Given the description of an element on the screen output the (x, y) to click on. 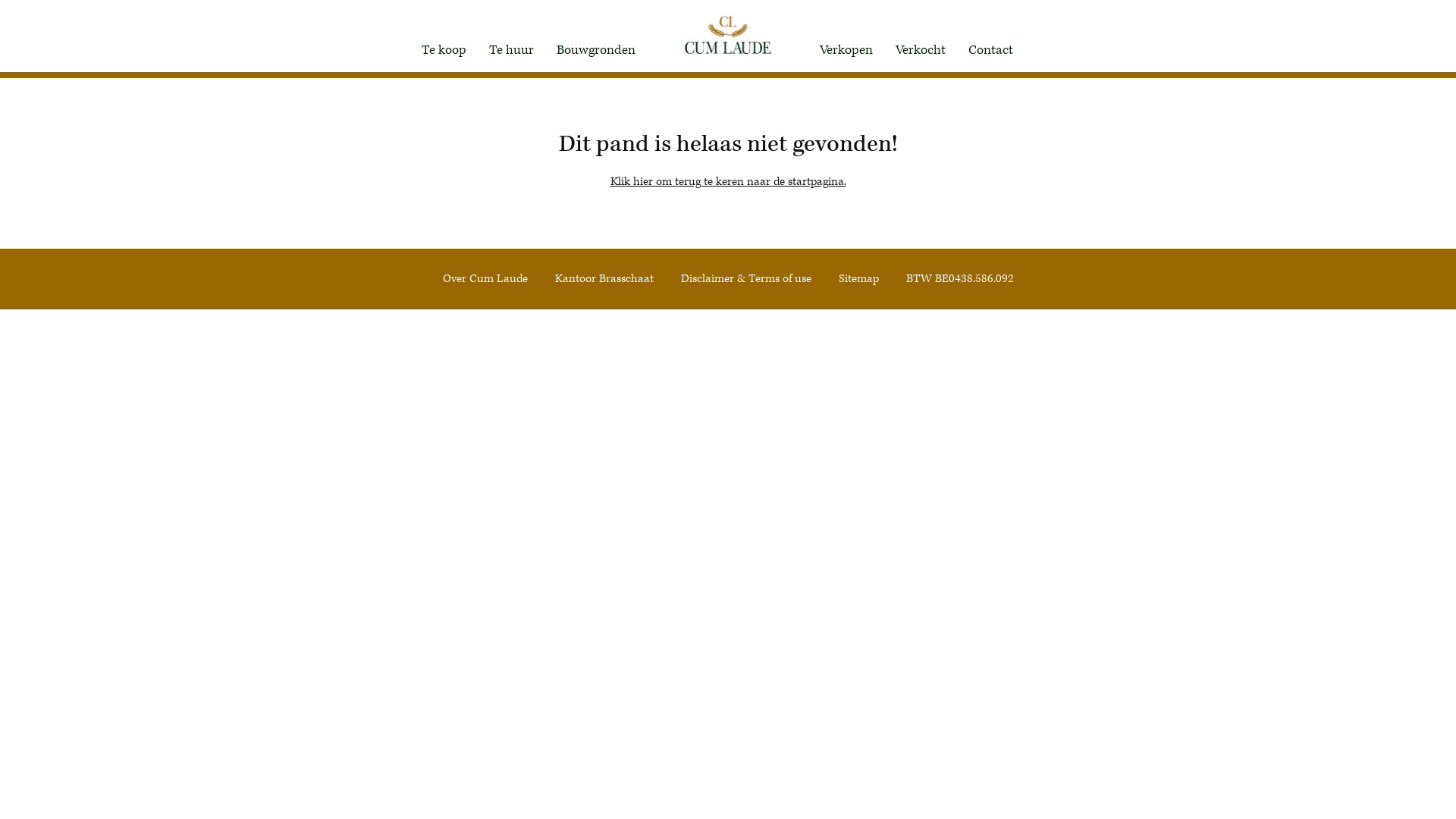
Verkocht Element type: text (920, 50)
Te koop Element type: text (443, 50)
Klik hier om terug te keren naar de startpagina. Element type: text (727, 181)
Verkopen Element type: text (845, 50)
Disclaimer & Terms of use Element type: text (745, 279)
Sitemap Element type: text (858, 279)
Kantoor Brasschaat Element type: text (604, 279)
Bouwgronden Element type: text (595, 50)
Te huur Element type: text (511, 50)
Contact Element type: text (990, 50)
Over Cum Laude Element type: text (484, 279)
